Given the description of an element on the screen output the (x, y) to click on. 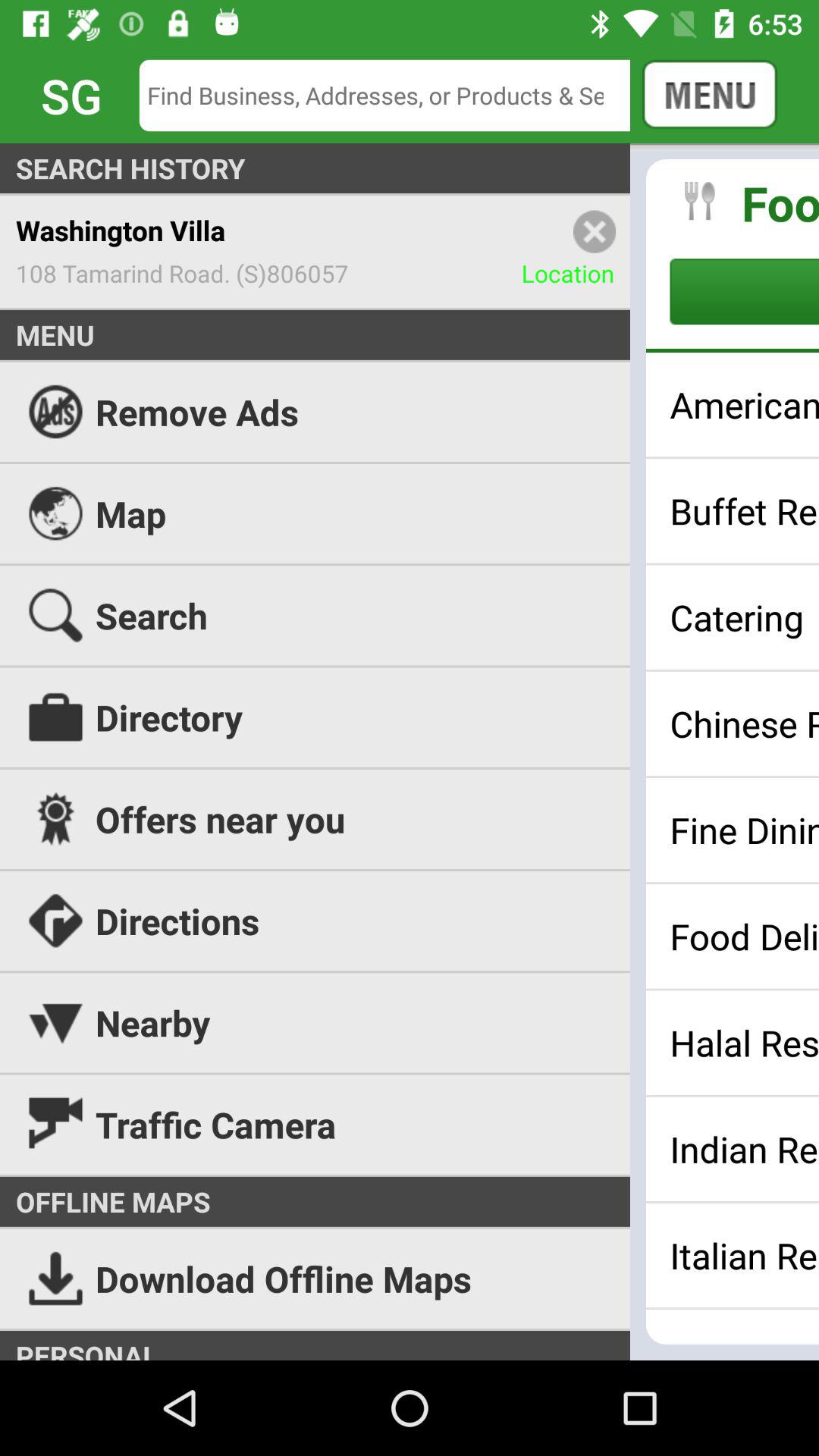
press the icon above the offers near you (744, 723)
